Given the description of an element on the screen output the (x, y) to click on. 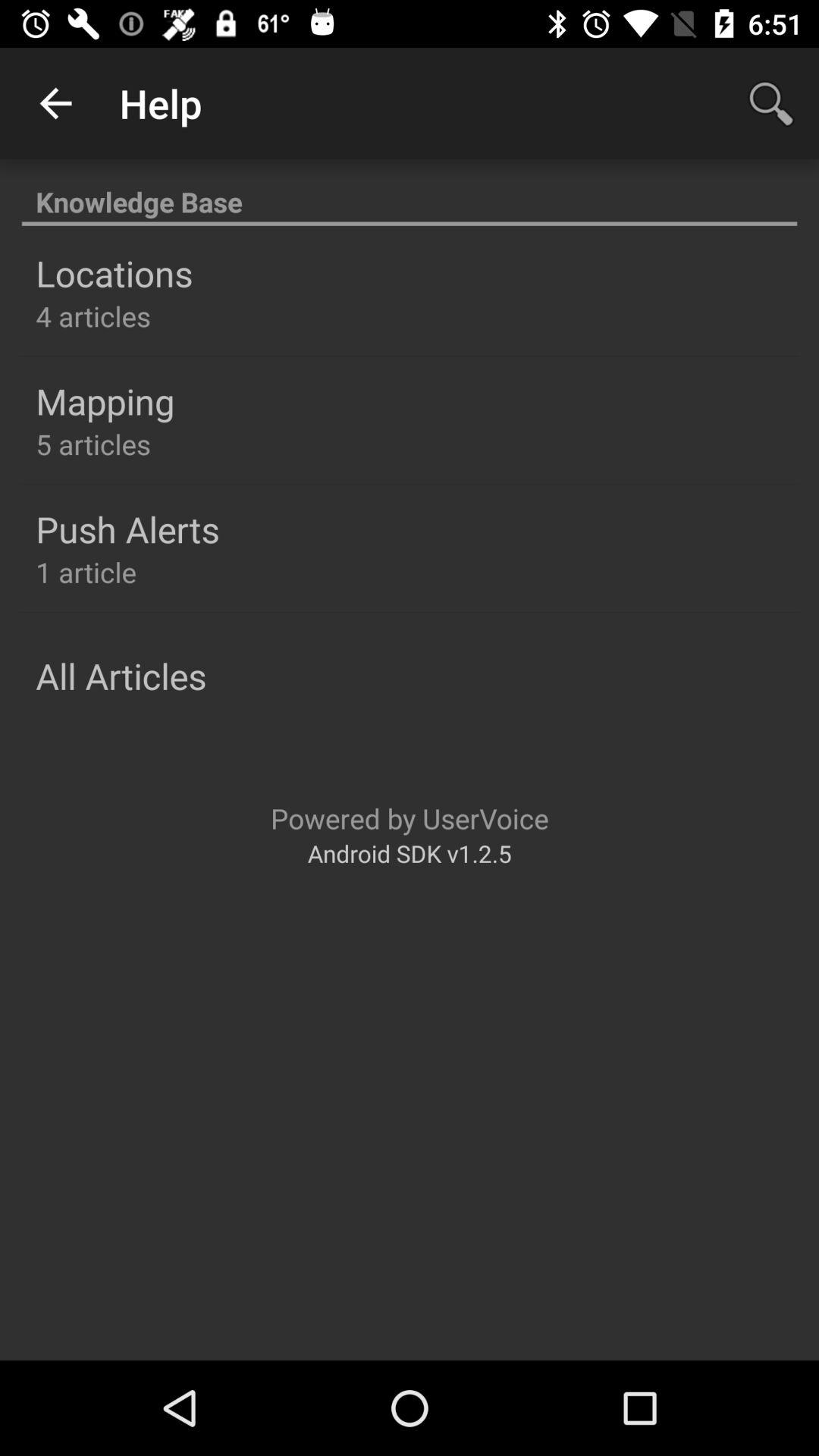
open item below the powered by uservoice item (409, 853)
